Given the description of an element on the screen output the (x, y) to click on. 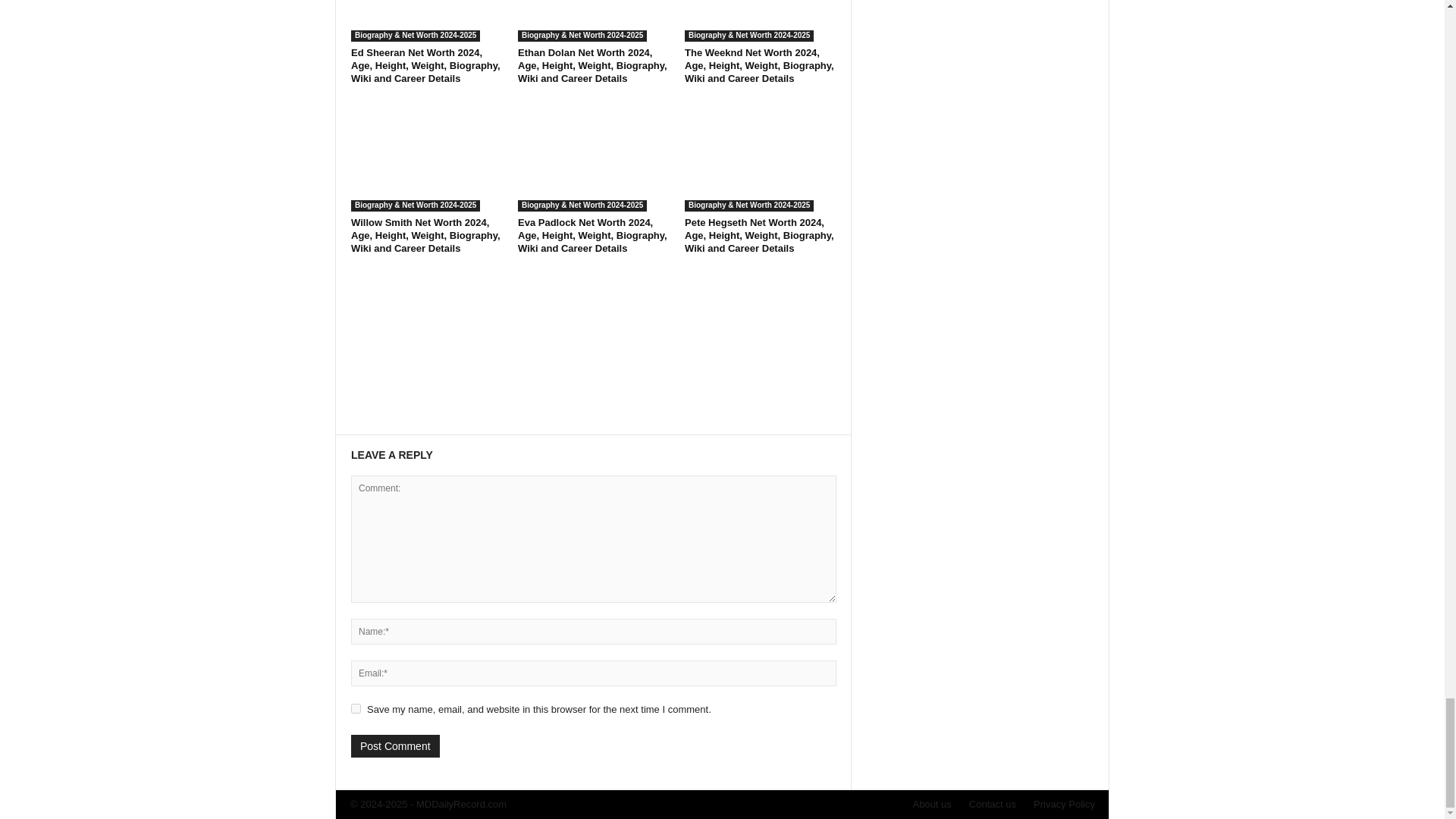
yes (355, 708)
Post Comment (394, 745)
